Given the description of an element on the screen output the (x, y) to click on. 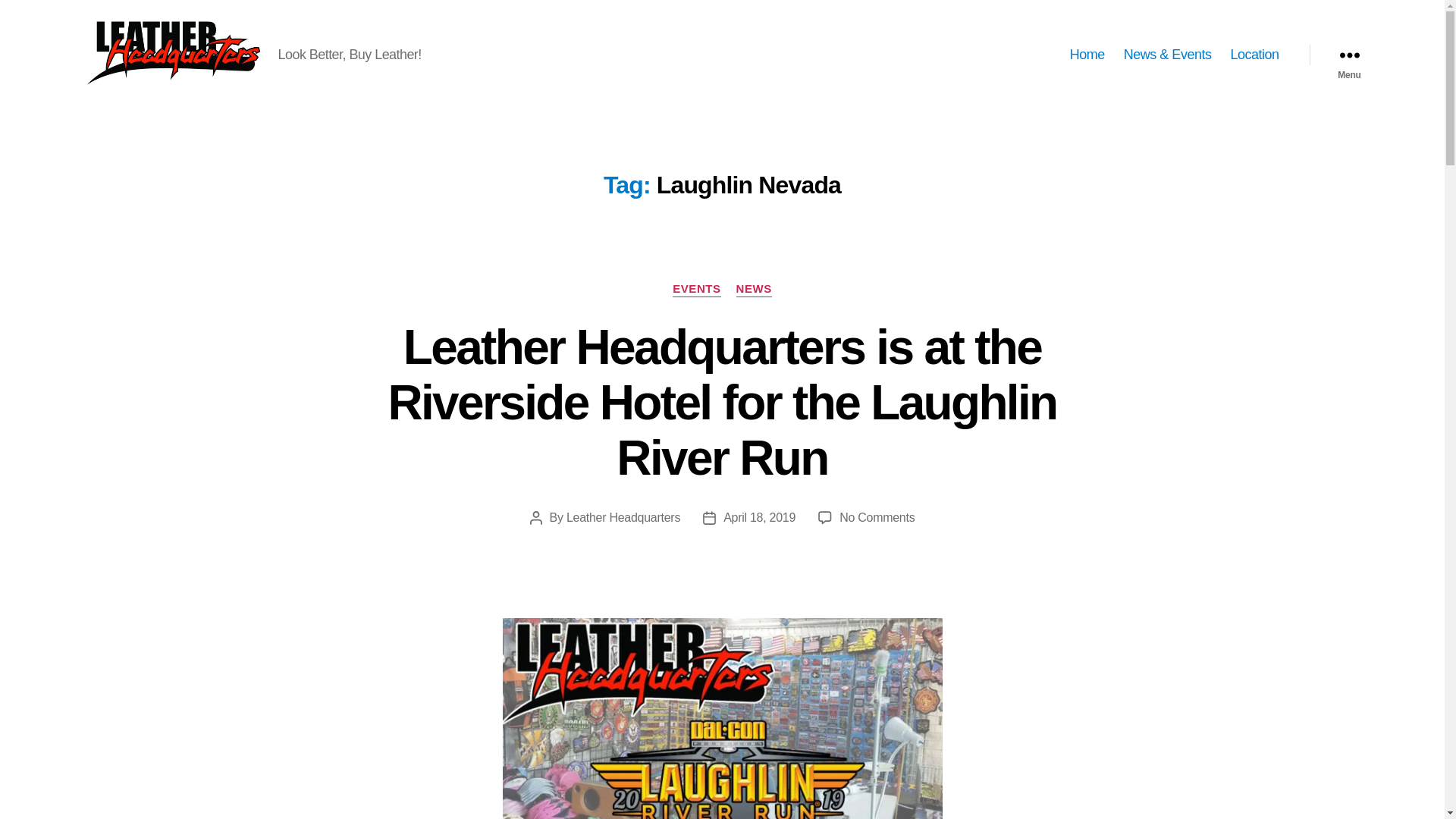
Menu (1348, 55)
April 18, 2019 (758, 517)
NEWS (753, 289)
Location (1254, 54)
Home (1087, 54)
Leather Headquarters (622, 517)
EVENTS (696, 289)
